Given the description of an element on the screen output the (x, y) to click on. 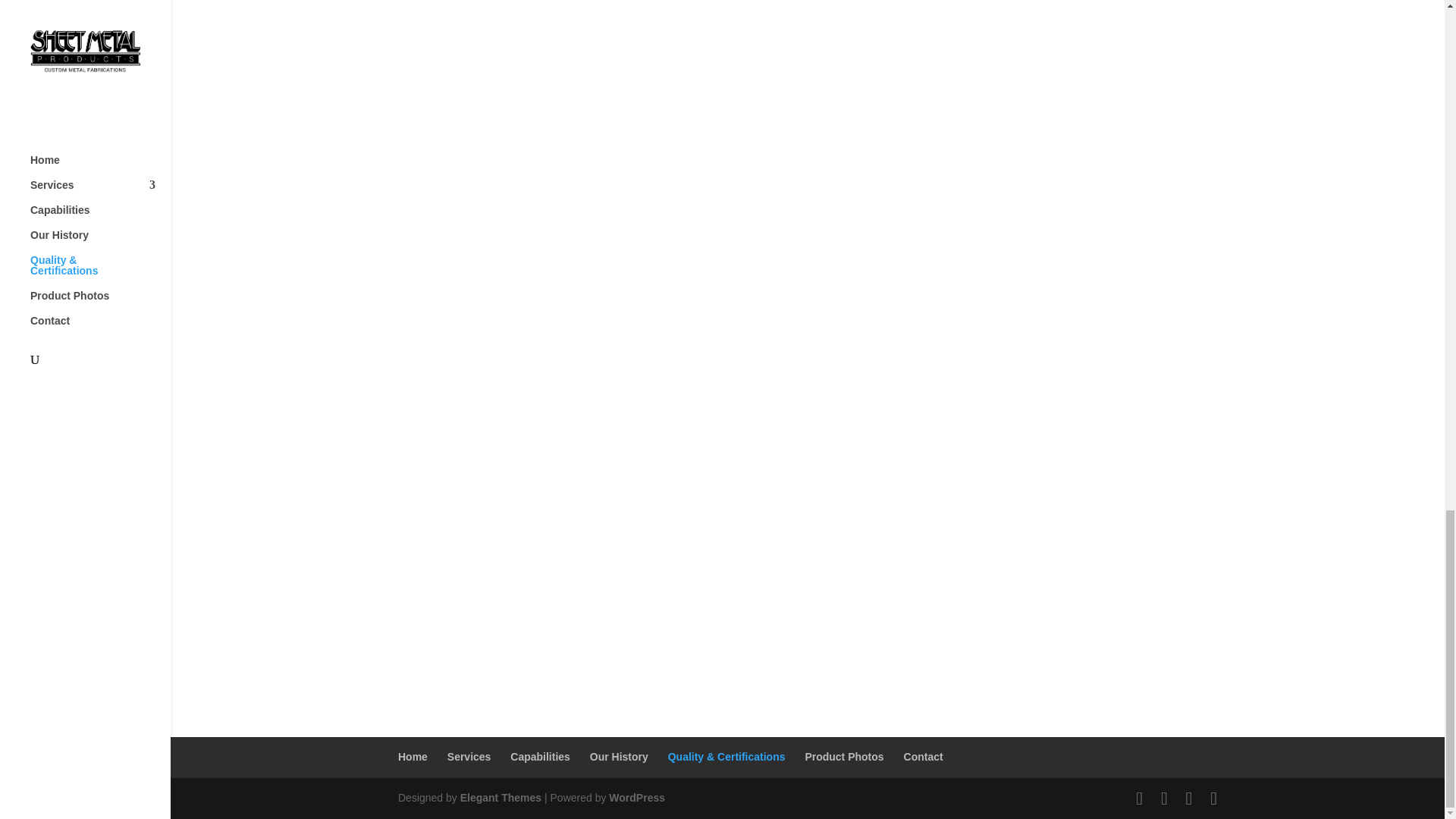
Services (469, 756)
Product Photos (844, 756)
Our History (618, 756)
Home (412, 756)
Capabilities (540, 756)
Elegant Themes (500, 797)
WordPress (636, 797)
Premium WordPress Themes (500, 797)
Contact (923, 756)
